Given the description of an element on the screen output the (x, y) to click on. 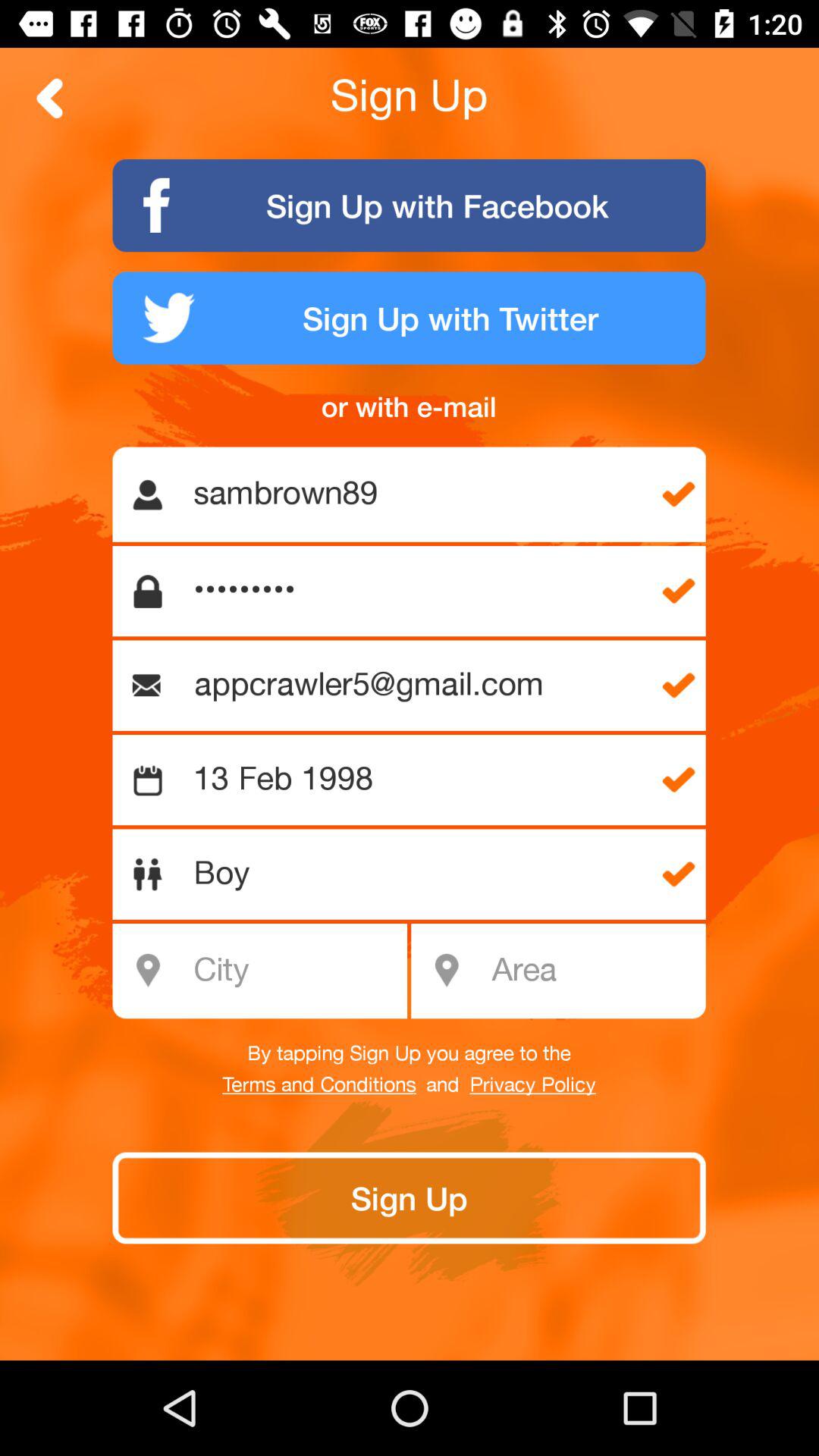
city (268, 970)
